Given the description of an element on the screen output the (x, y) to click on. 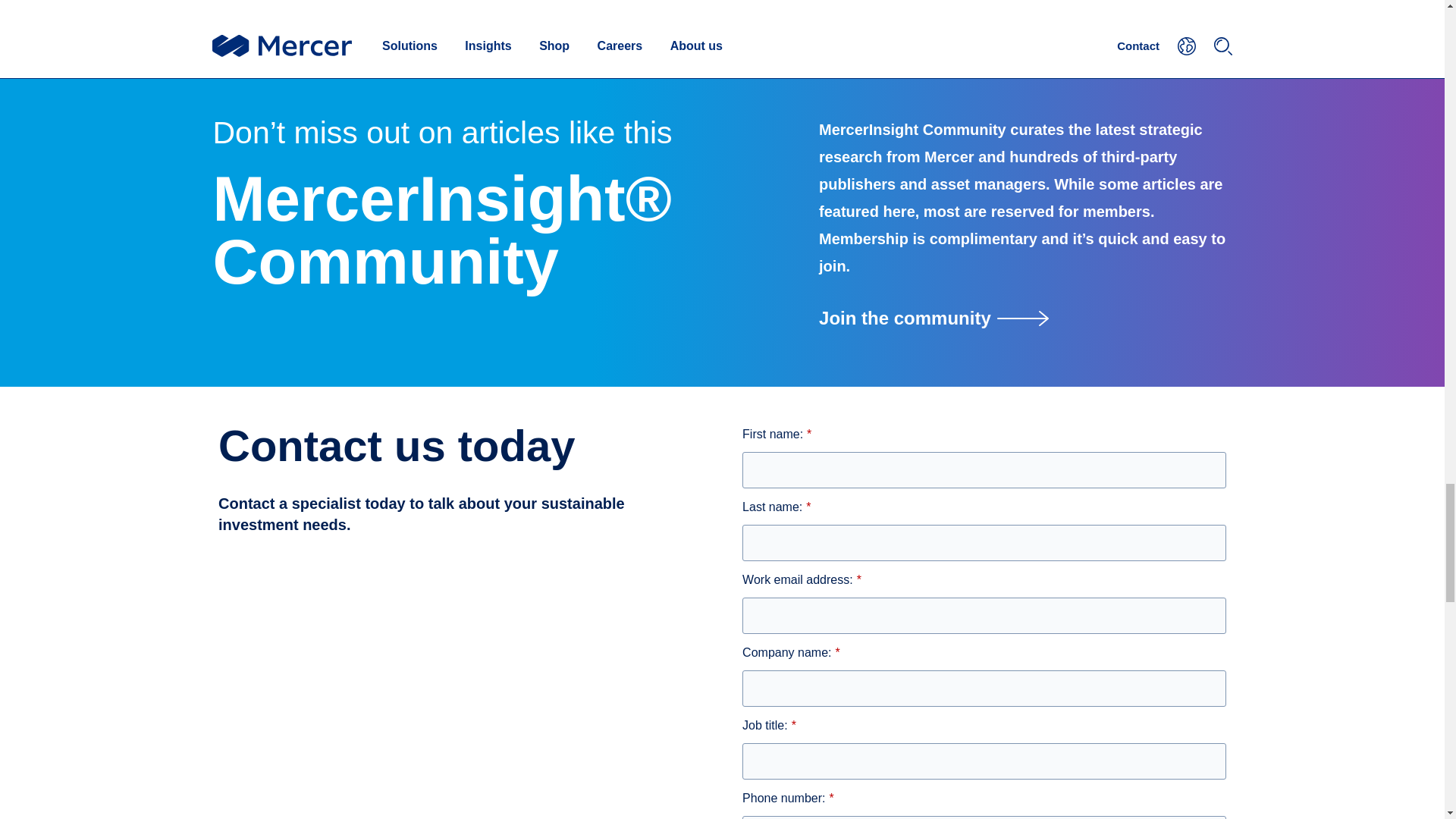
Share on Twitter (354, 20)
Share on LinkedIn (402, 20)
Join the community (1024, 317)
Share on Facebook (308, 20)
Please enter your job title here. (983, 760)
Share on Twitter (354, 20)
Join the community (1024, 317)
Share on Facebook (308, 20)
Share on LinkedIn (402, 20)
